Given the description of an element on the screen output the (x, y) to click on. 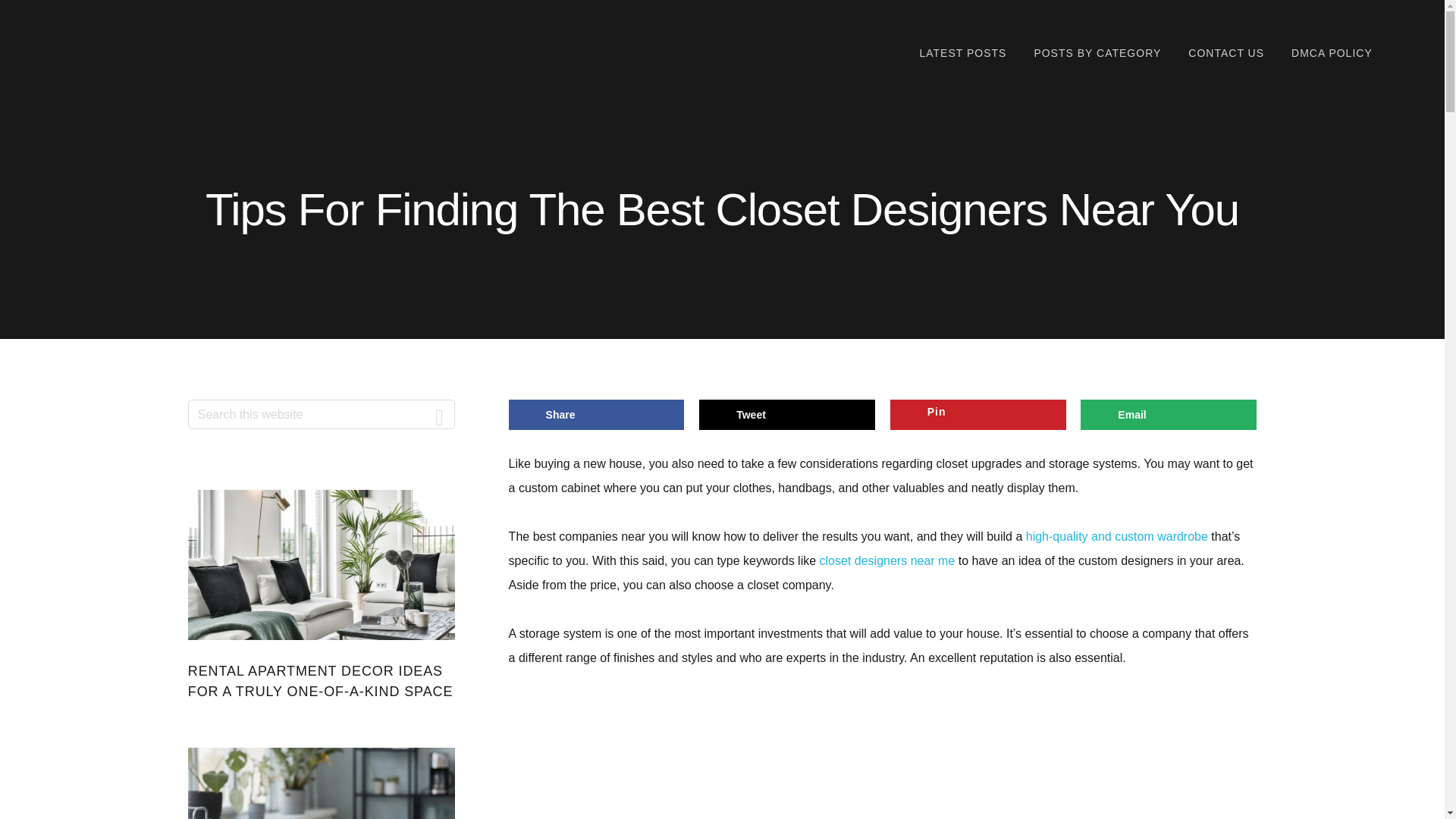
POSTS BY CATEGORY (1096, 53)
LATEST POSTS (962, 53)
Pin (977, 414)
Search (439, 414)
Share on X (786, 414)
CONTACT US (1225, 53)
Share on Facebook (596, 414)
Share (596, 414)
Interior Idea (147, 50)
Search (439, 414)
Save to Pinterest (977, 414)
DMCA POLICY (1332, 53)
Email (1168, 414)
high-quality and custom wardrobe (1117, 535)
